Given the description of an element on the screen output the (x, y) to click on. 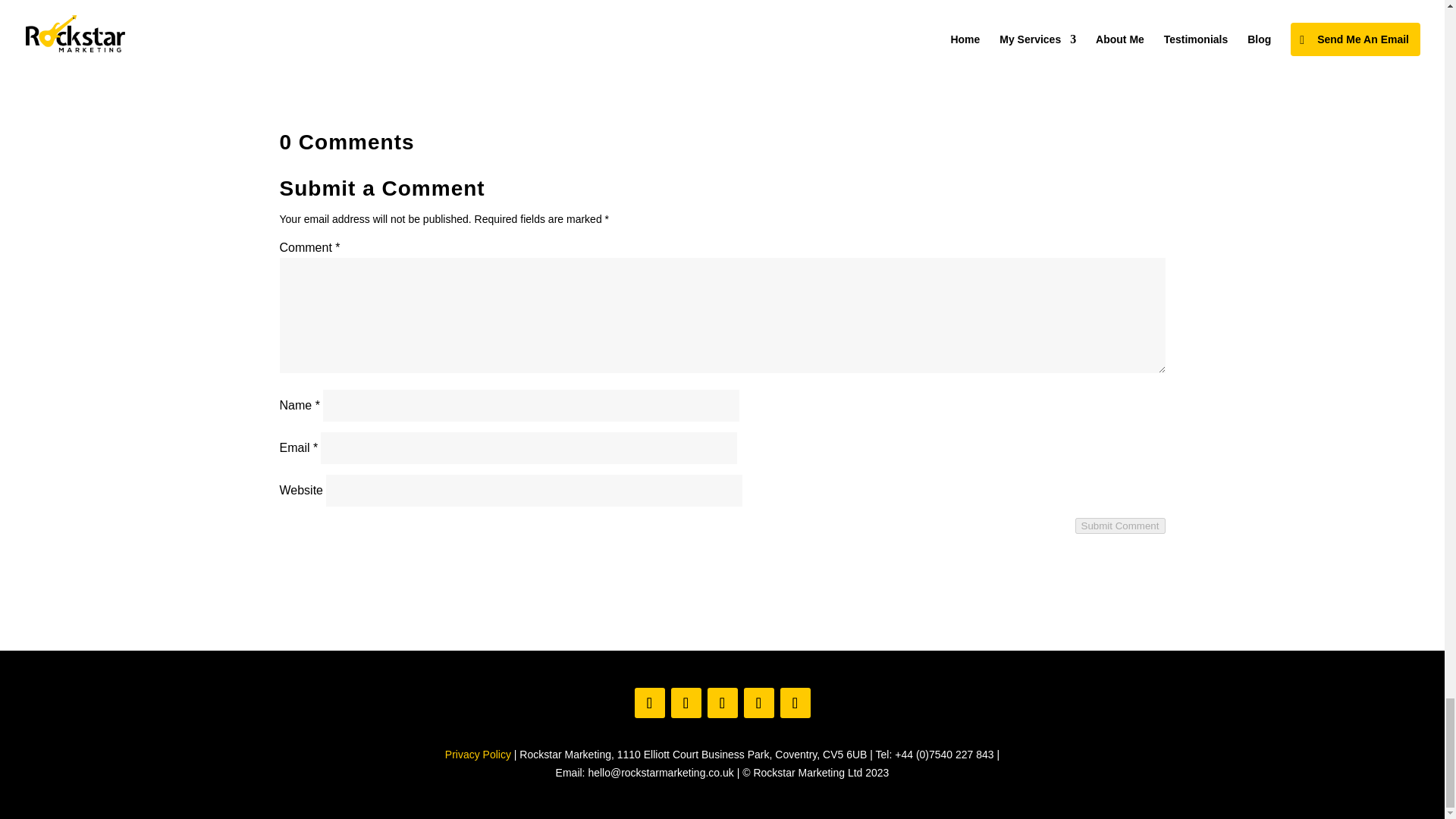
Follow on Youtube (793, 702)
Follow on Twitter (721, 702)
Follow on Facebook (648, 702)
Follow on Instagram (684, 702)
Follow on LinkedIn (757, 702)
